Given the description of an element on the screen output the (x, y) to click on. 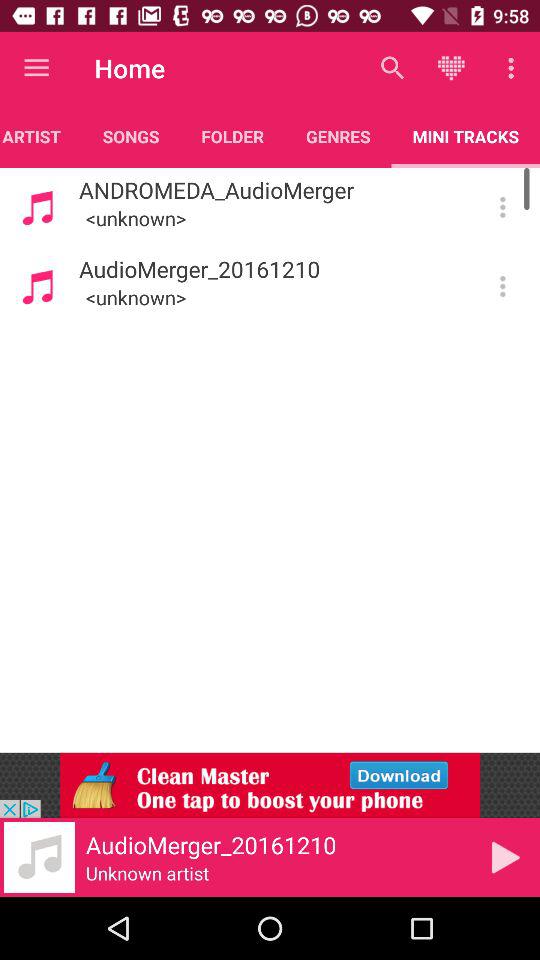
next field (505, 857)
